Given the description of an element on the screen output the (x, y) to click on. 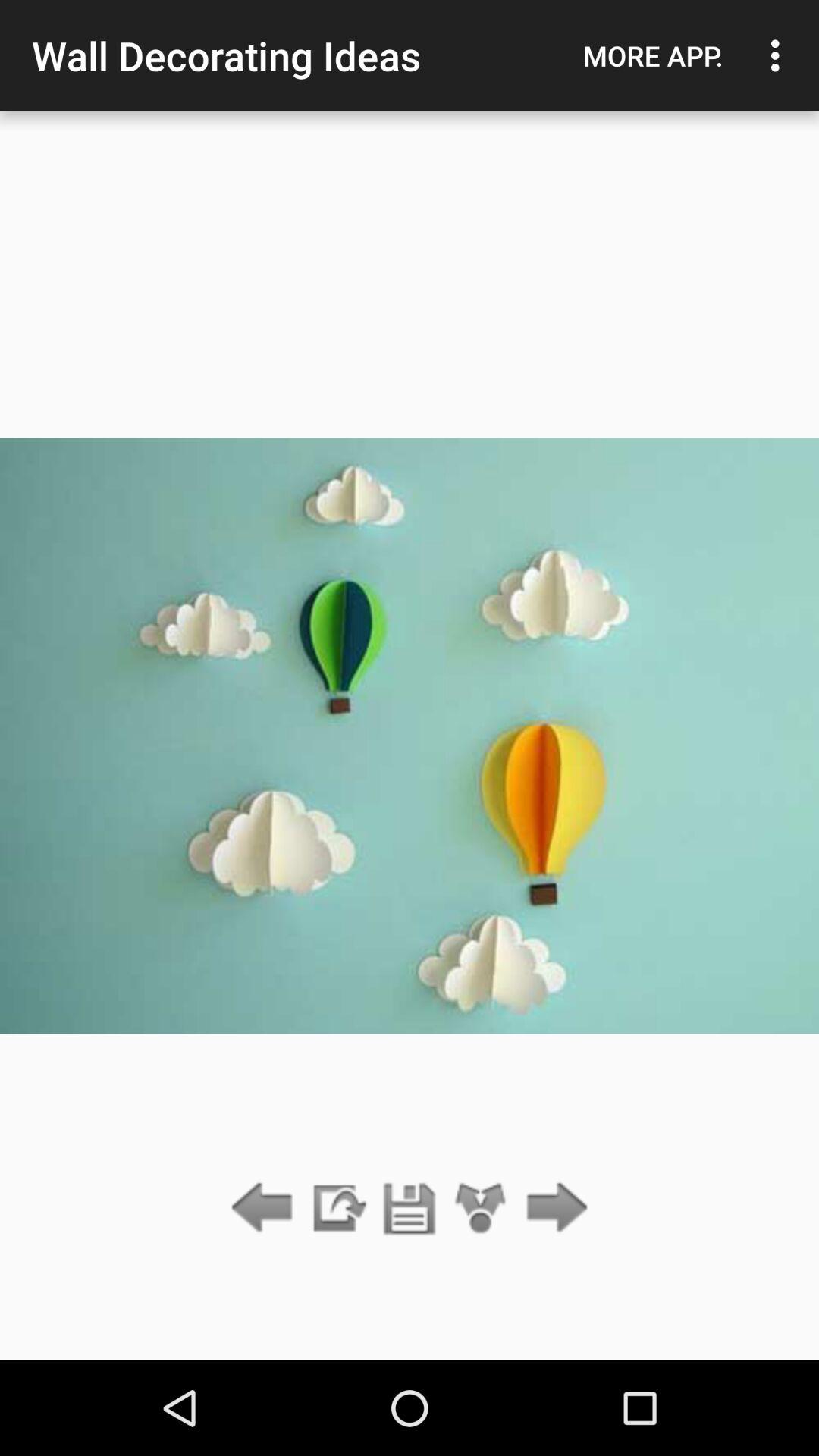
turn on app below the wall decorating ideas (409, 1208)
